Given the description of an element on the screen output the (x, y) to click on. 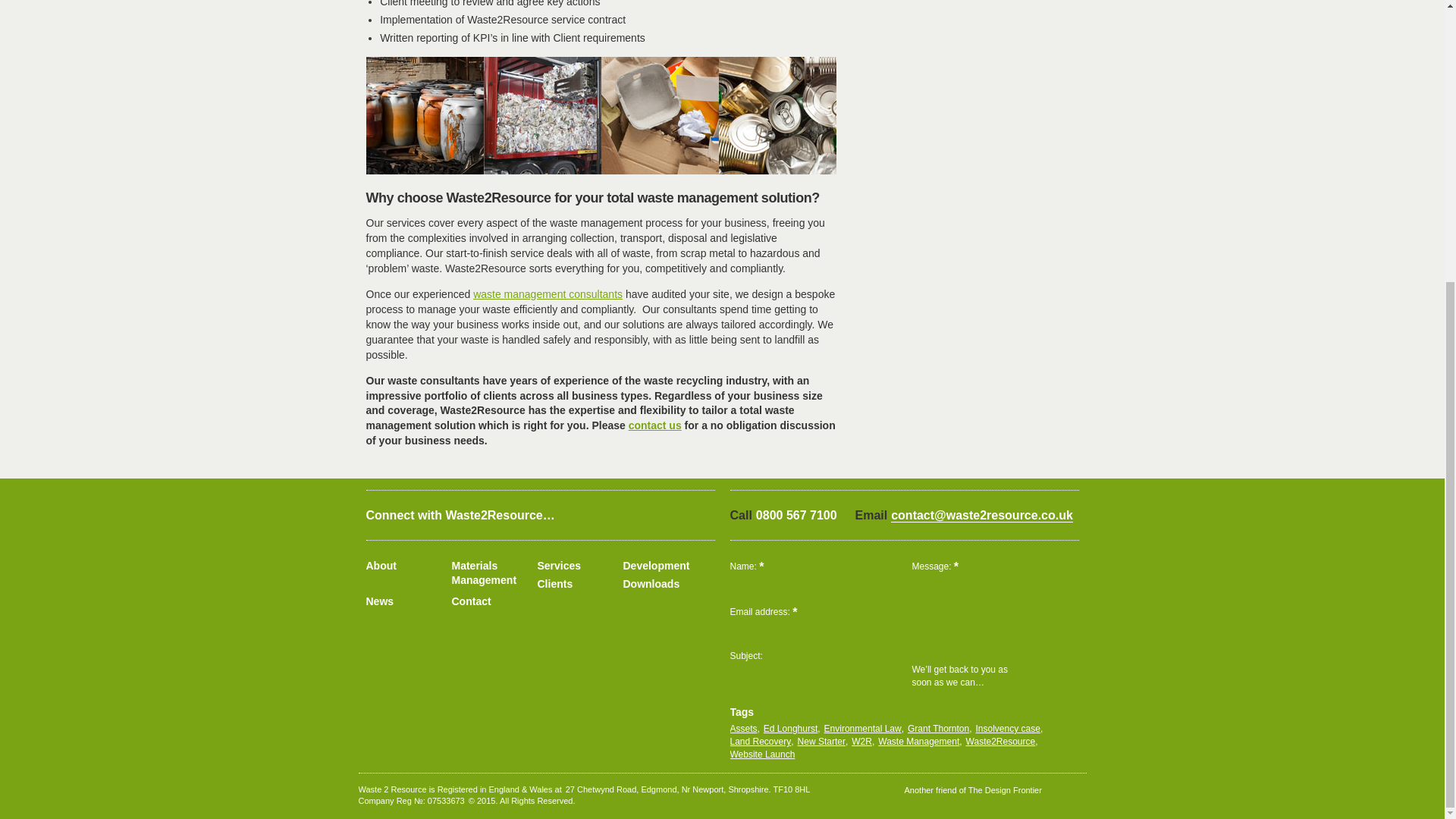
Required (794, 612)
Follow Waste 2 Resource on LinkedIn (681, 515)
Follow Waste 2 Resource on Twitter (613, 515)
Required (955, 566)
Registered (404, 800)
Required (760, 566)
Follow Waste 2 Resource on Facebook (648, 515)
Send (1051, 676)
